Given the description of an element on the screen output the (x, y) to click on. 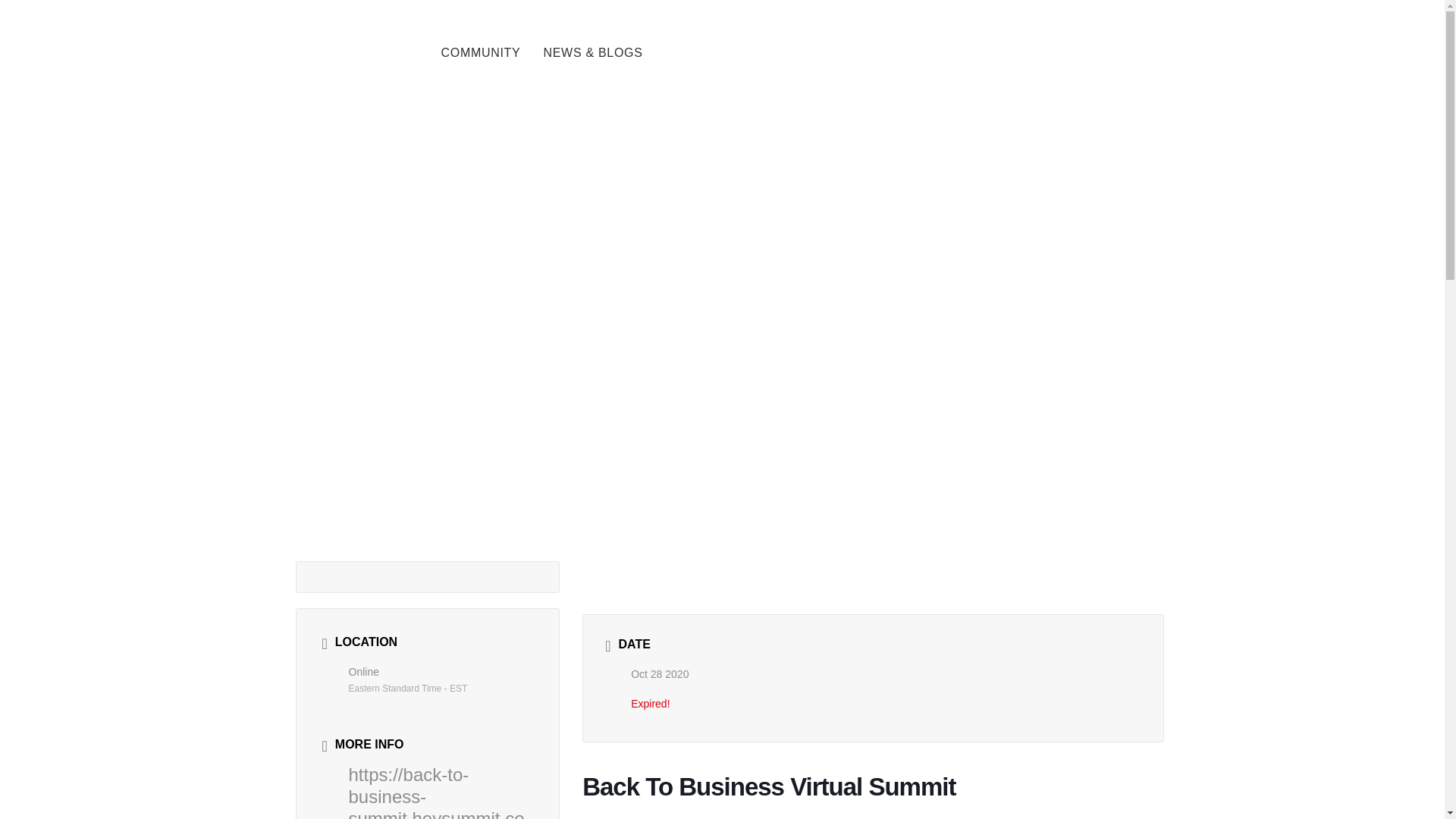
COMMUNITY (480, 53)
